Given the description of an element on the screen output the (x, y) to click on. 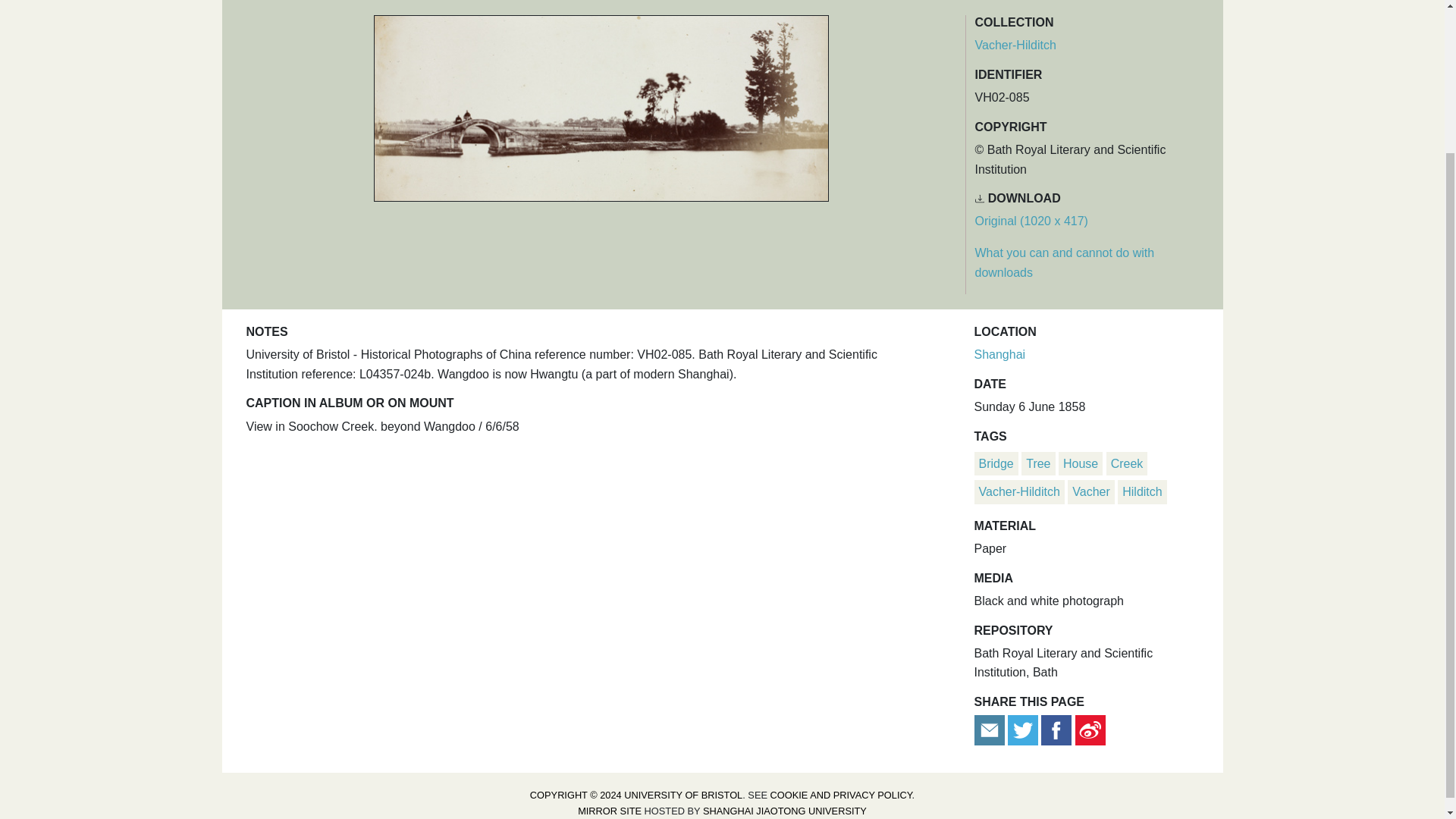
Vacher-Hilditch (1016, 44)
Creek (1126, 463)
Shanghai (999, 354)
Bridge (995, 463)
What you can and cannot do with downloads (1064, 262)
Vacher-Hilditch (1018, 491)
Hilditch (1141, 491)
House (1079, 463)
MIRROR SITE (610, 810)
Vacher (1090, 491)
COOKIE AND PRIVACY POLICY (841, 794)
Tree (1037, 463)
SHANGHAI JIAOTONG UNIVERSITY (784, 810)
